Given the description of an element on the screen output the (x, y) to click on. 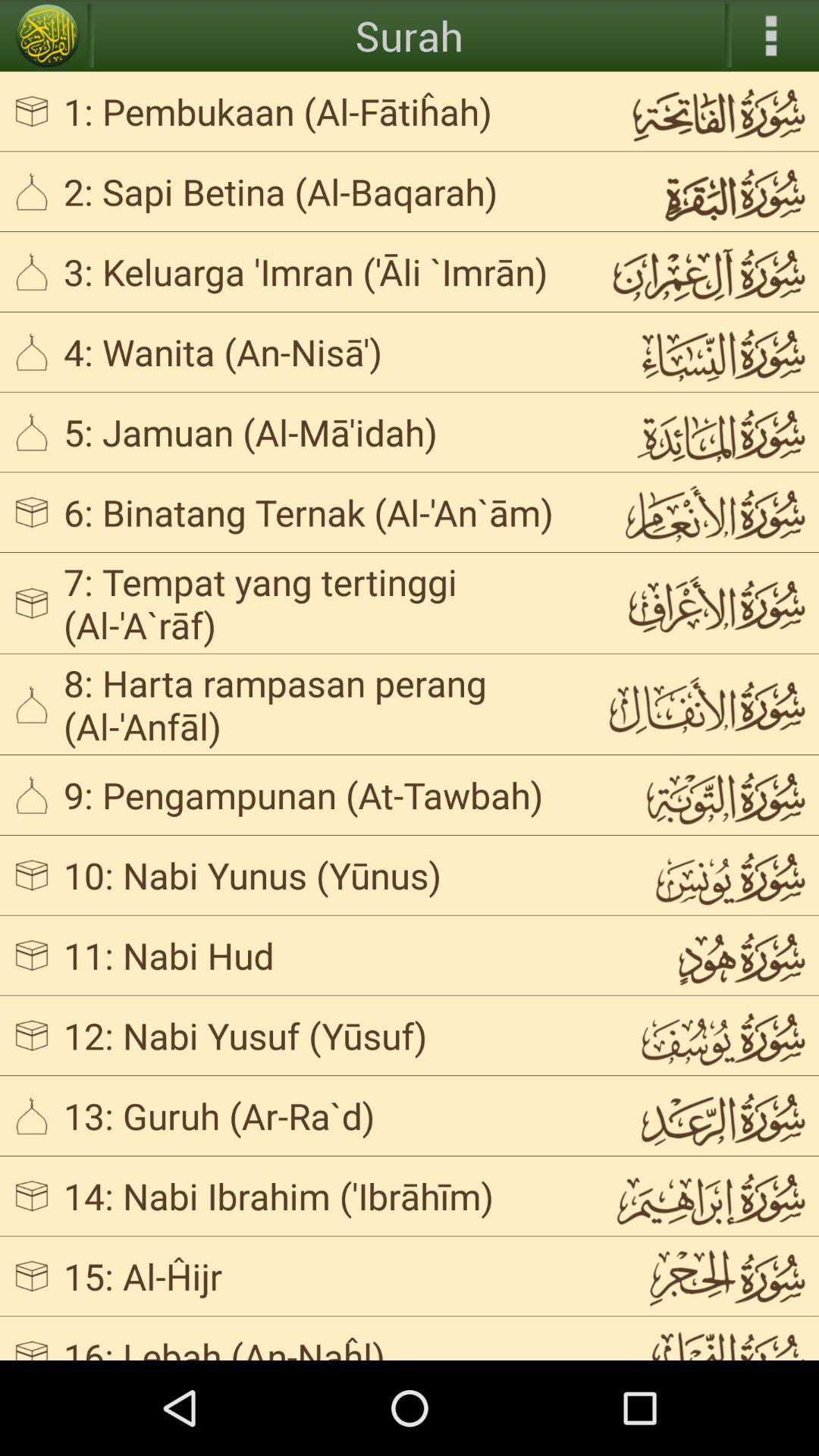
jump until the 9 pengampunan at icon (322, 794)
